Given the description of an element on the screen output the (x, y) to click on. 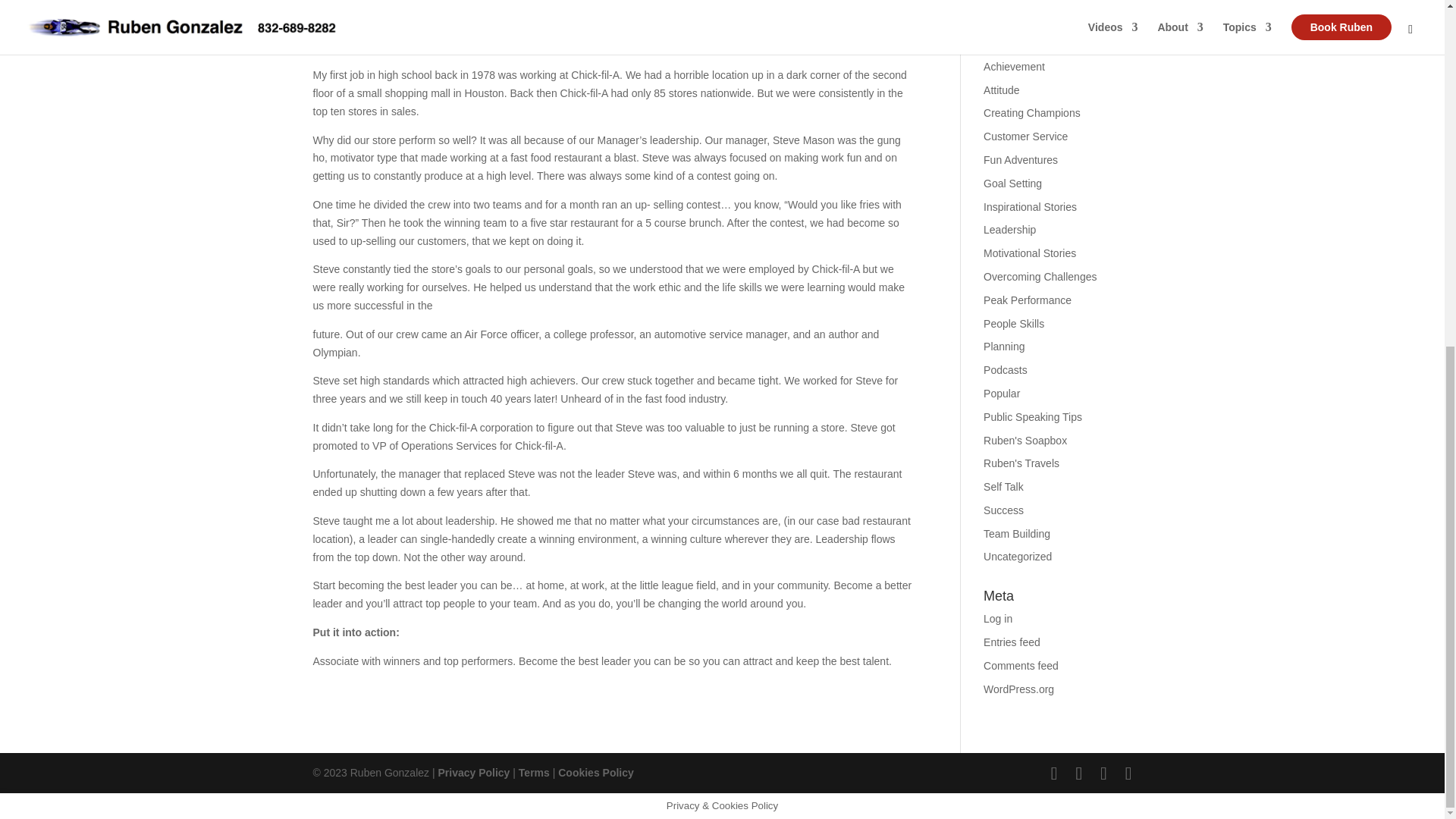
June 2015 (1008, 5)
